Given the description of an element on the screen output the (x, y) to click on. 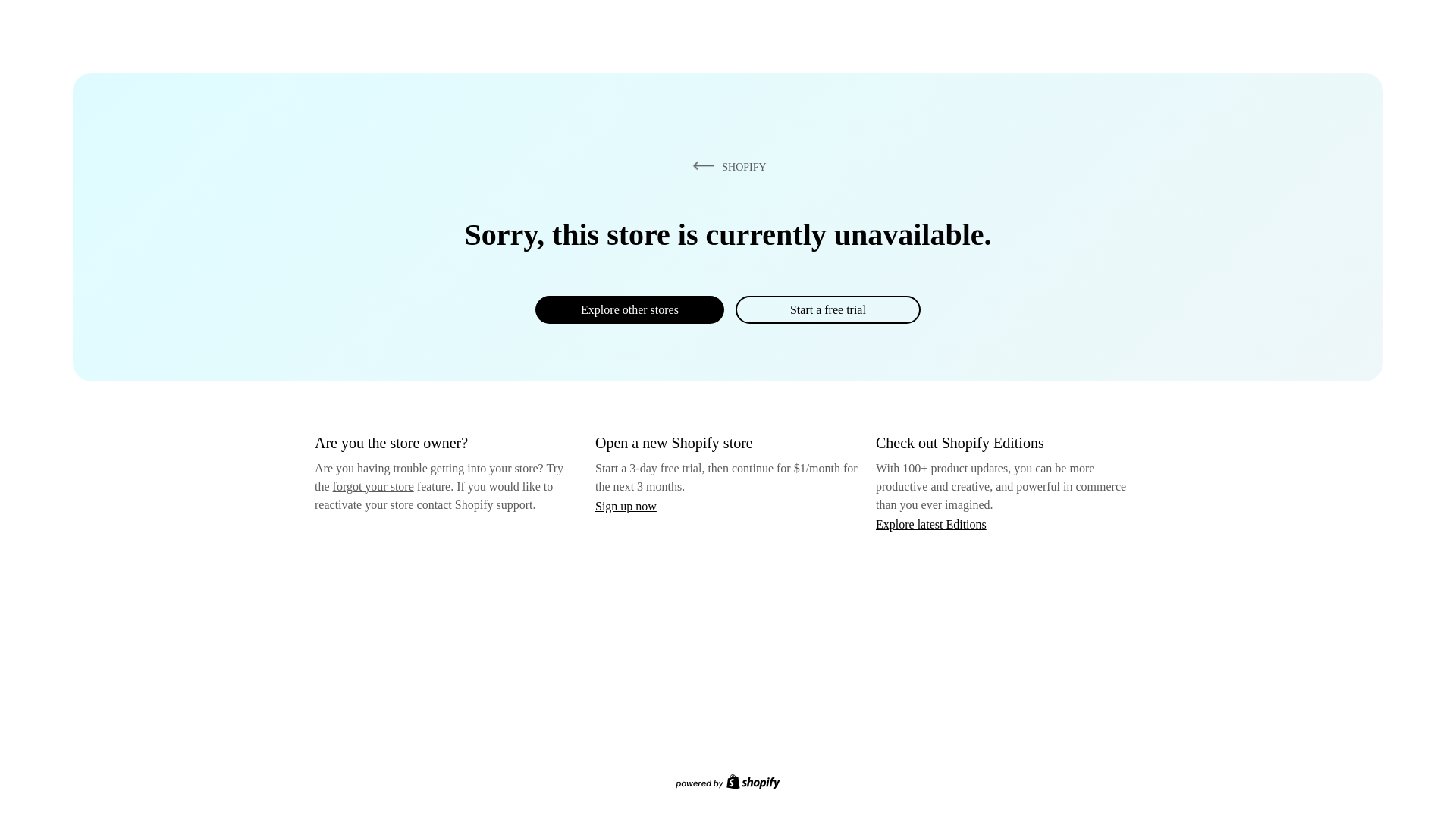
Explore other stores (629, 309)
Start a free trial (827, 309)
Shopify support (493, 504)
SHOPIFY (726, 166)
forgot your store (373, 486)
Explore latest Editions (931, 523)
Sign up now (625, 505)
